Given the description of an element on the screen output the (x, y) to click on. 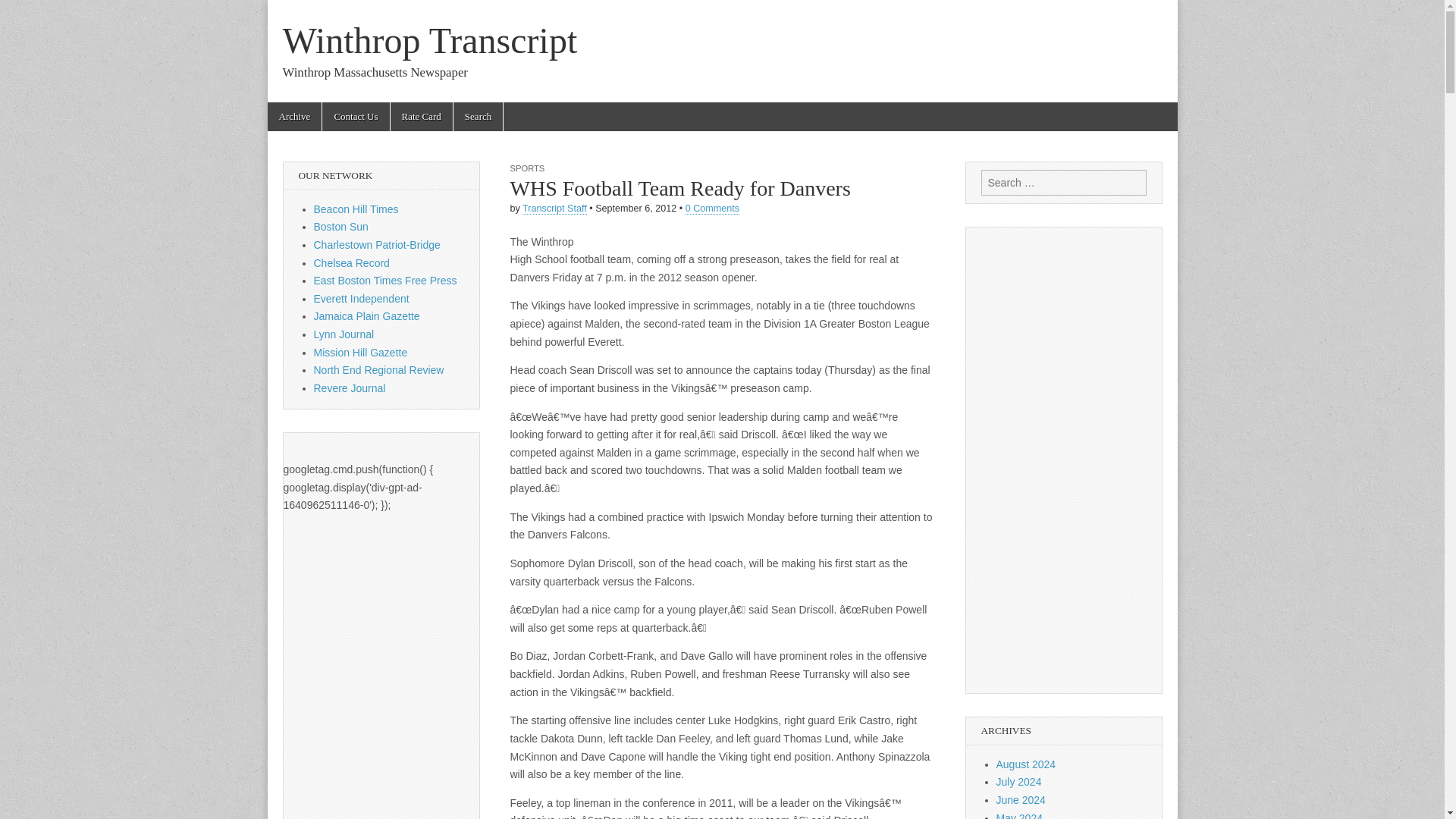
Charlestown Patriot-Bridge (377, 244)
Search (23, 12)
Mission Hill Gazette (360, 352)
Winthrop Transcript (429, 40)
Posts by Transcript Staff (554, 208)
SPORTS (526, 167)
Boston Sun (341, 226)
East Boston Times Free Press (385, 280)
